Given the description of an element on the screen output the (x, y) to click on. 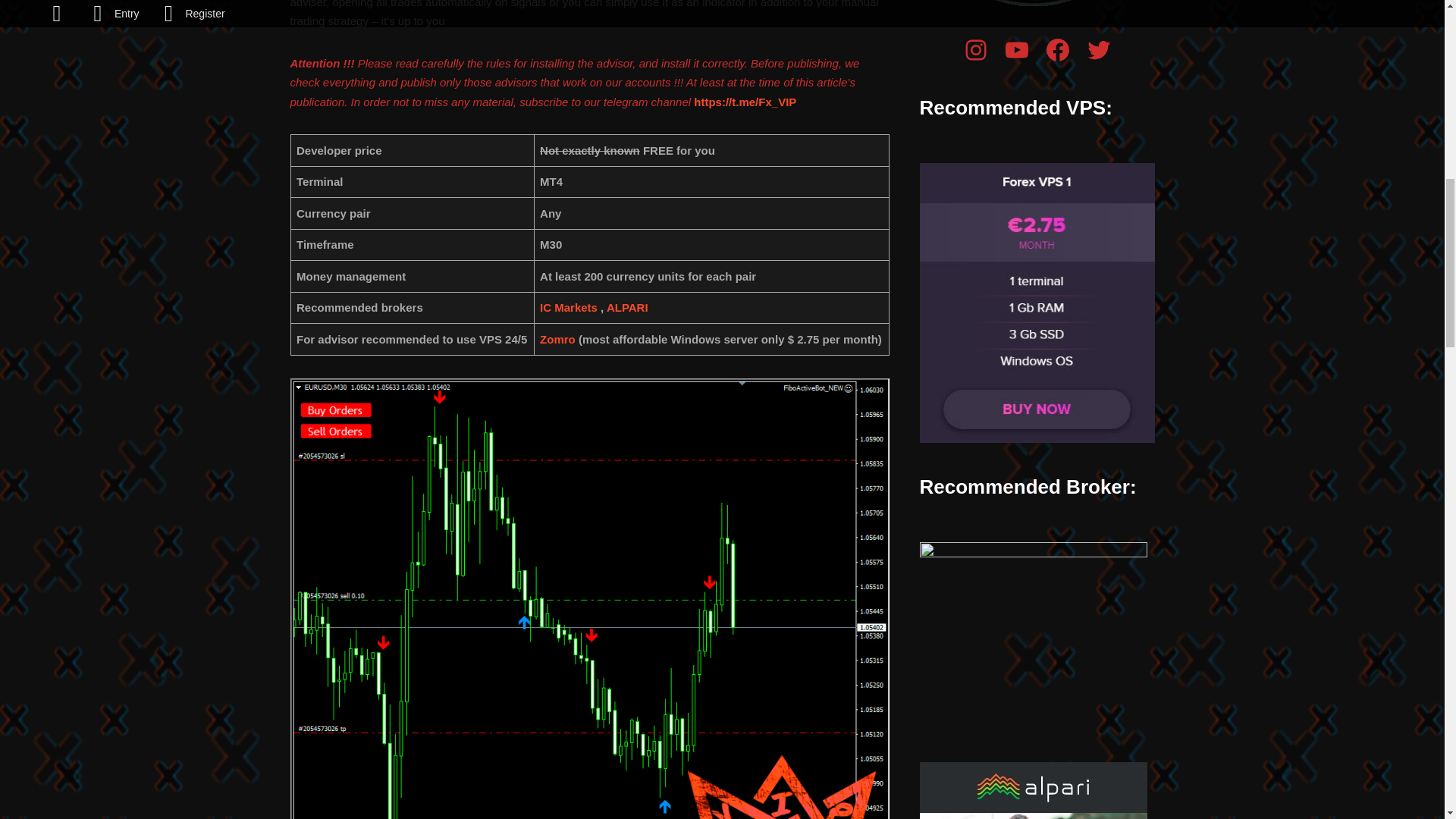
IC Markets (568, 307)
Facebook (1056, 49)
Instagram (974, 49)
Zomro (557, 338)
YouTube (1016, 49)
Twitter (1098, 49)
ALPARI (627, 307)
